Given the description of an element on the screen output the (x, y) to click on. 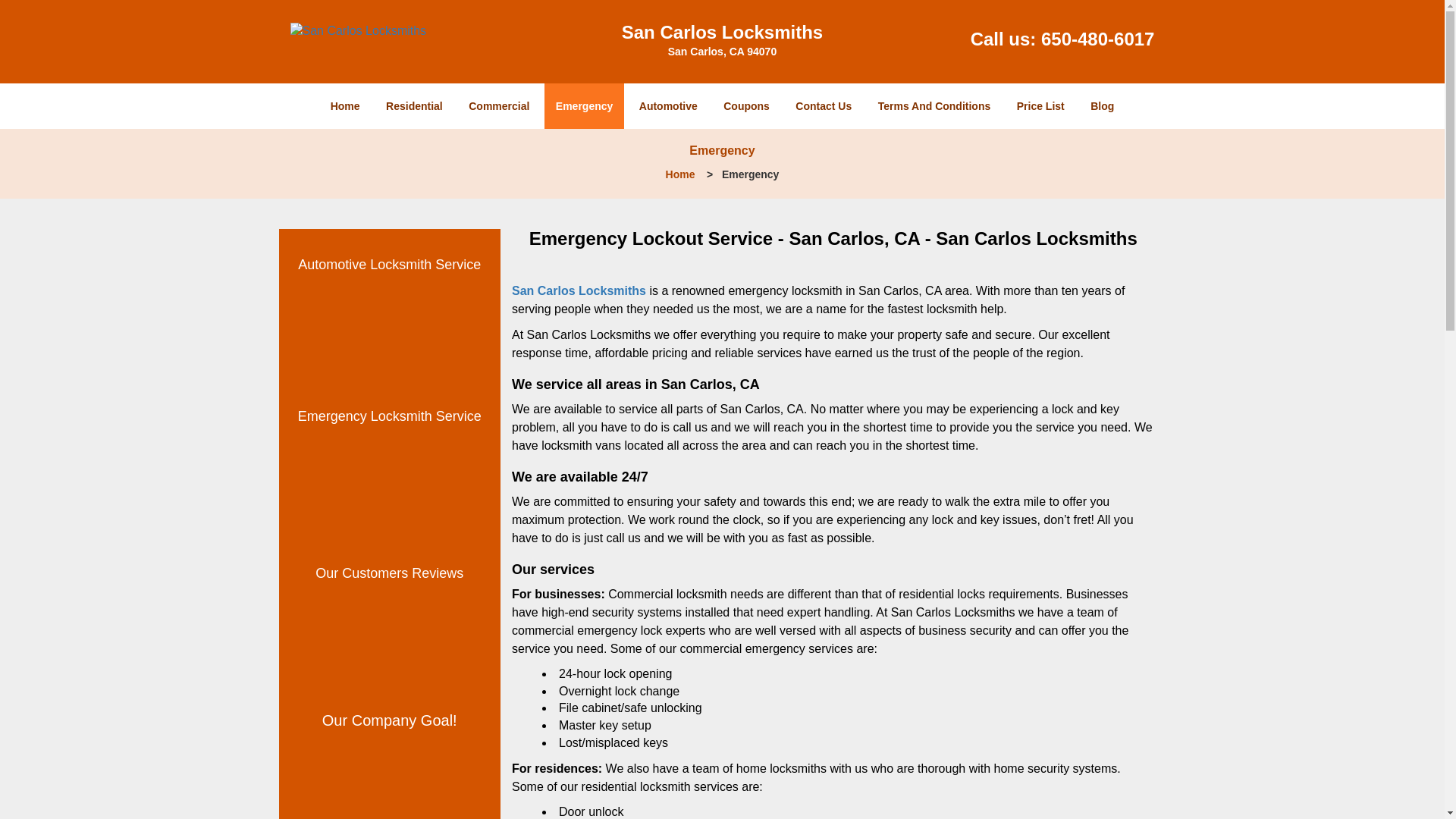
Home (344, 105)
650-480-6017 (1097, 38)
Automotive (668, 105)
Commercial (498, 105)
Residential (414, 105)
Contact Us (823, 105)
Blog (1101, 105)
Emergency (584, 105)
Automotive Locksmith Service (389, 263)
Price List (1040, 105)
San Carlos Locksmiths (579, 290)
Home (680, 174)
Coupons (745, 105)
Emergency Locksmith Service (389, 415)
Terms And Conditions (934, 105)
